Given the description of an element on the screen output the (x, y) to click on. 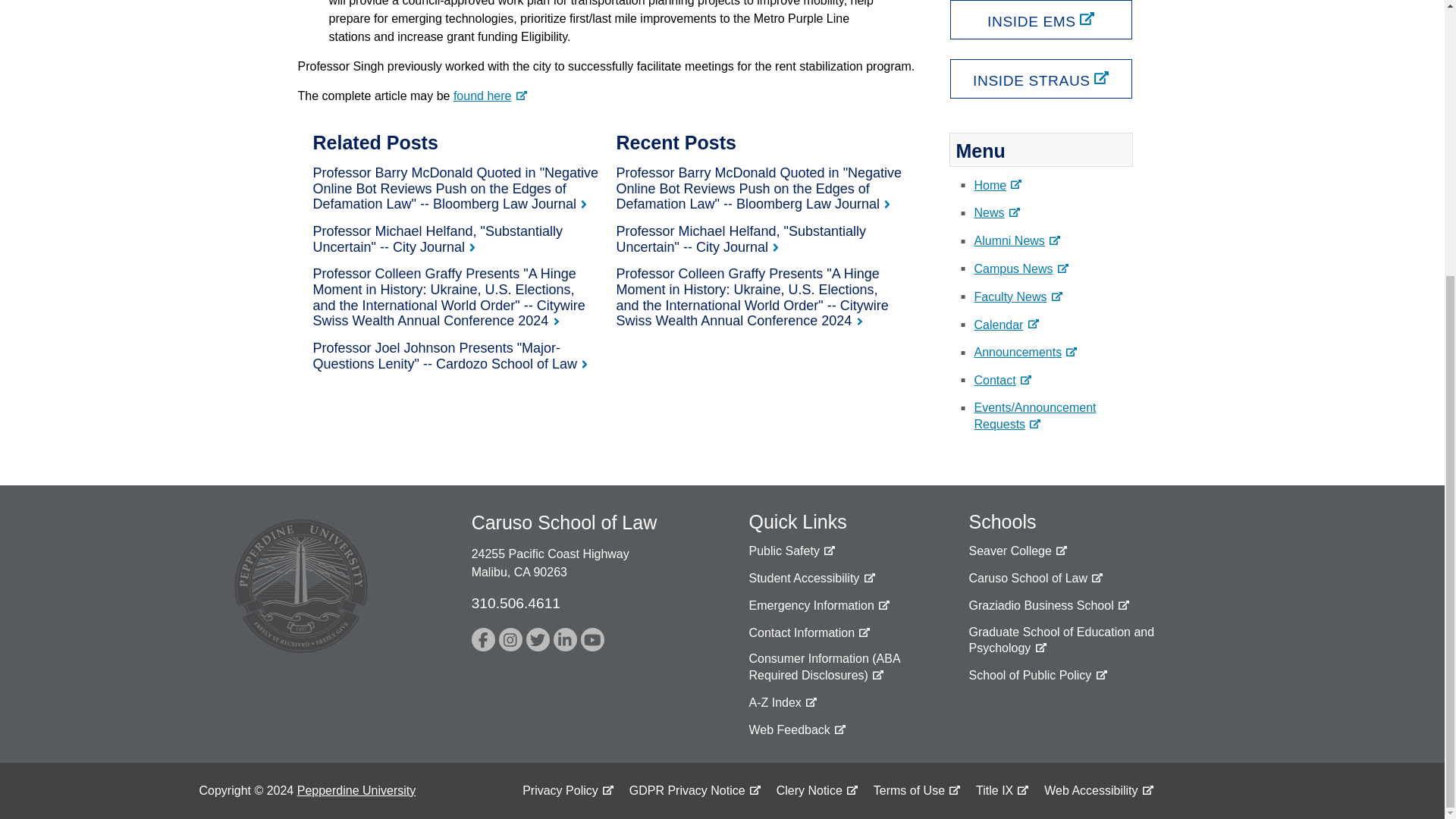
Call (515, 602)
Link to External Site (1048, 605)
Link to External Site (1037, 675)
Link to External Site (510, 639)
Link to External Site (1091, 640)
Link to External Site (489, 95)
Link to External Site (796, 729)
Link to External Site (1017, 551)
Go to Caruso School of Law site (1035, 578)
Link to External Site (811, 578)
Link to External Site (537, 639)
Link to External Site (790, 551)
Link to External Site (483, 639)
Link to External Site (818, 605)
